Given the description of an element on the screen output the (x, y) to click on. 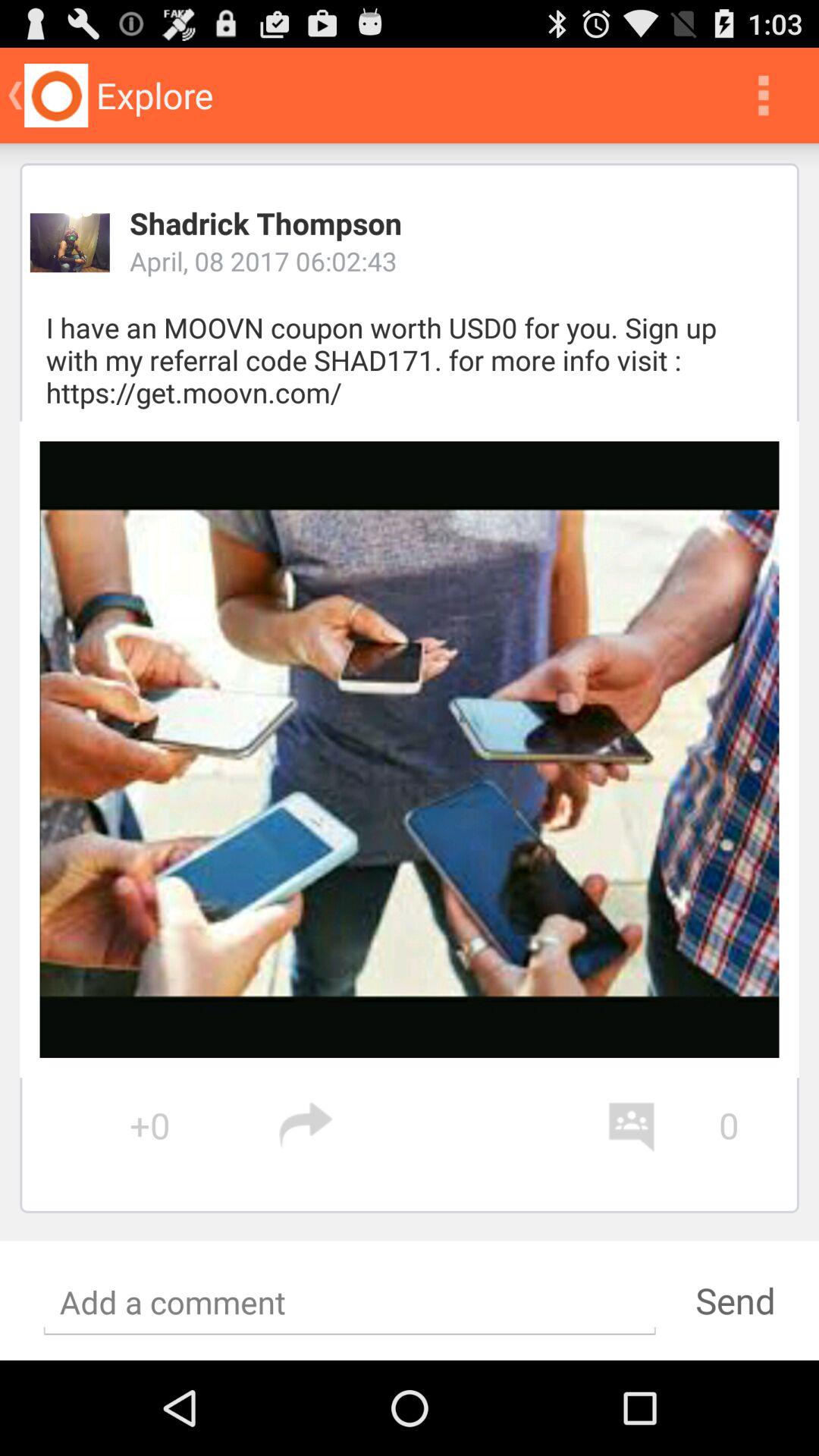
launch item at the top right corner (763, 95)
